Given the description of an element on the screen output the (x, y) to click on. 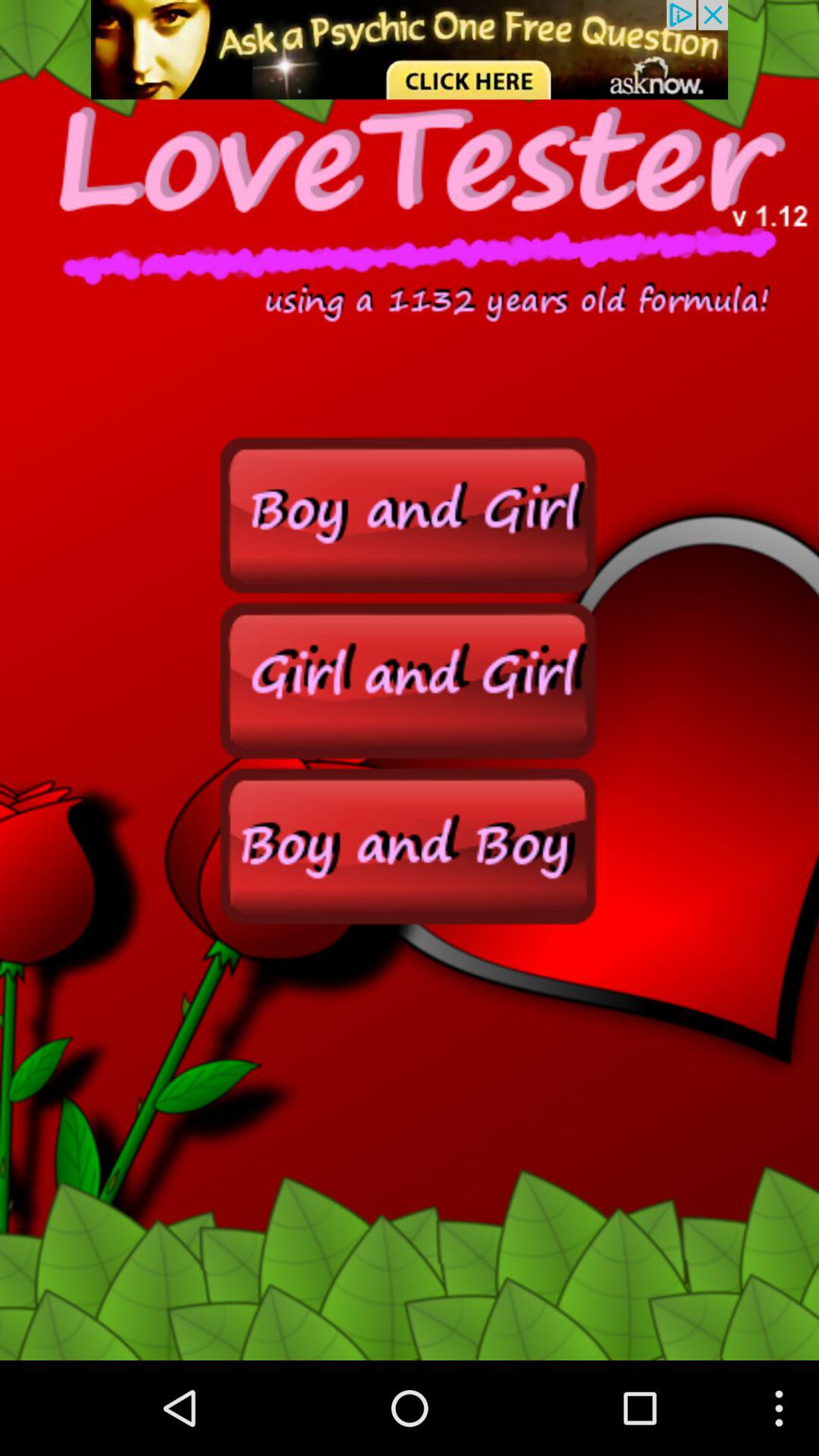
girl and girl (409, 679)
